Given the description of an element on the screen output the (x, y) to click on. 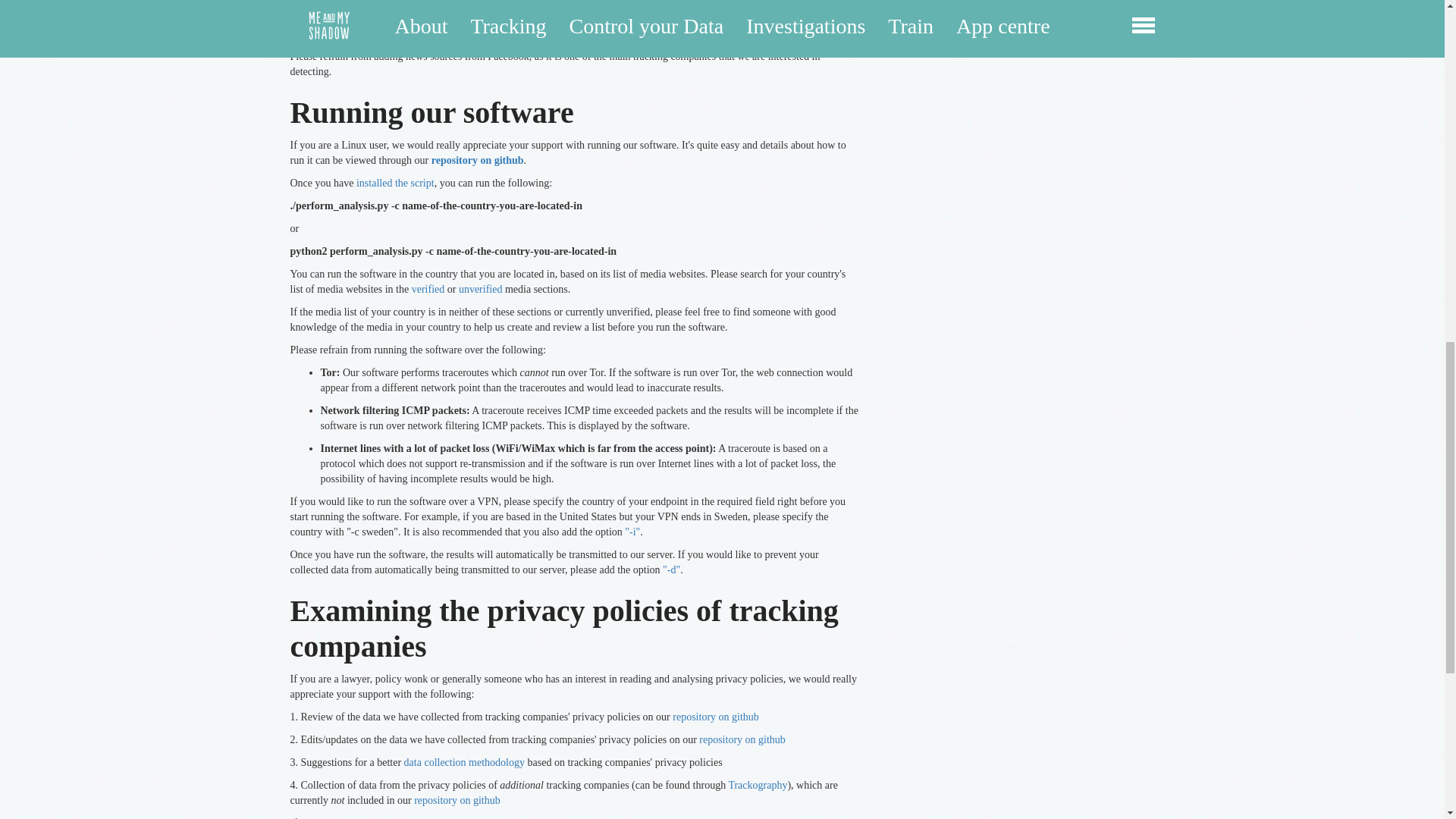
data collection methodology (464, 762)
repository on github (477, 160)
repository on github (742, 739)
repository on github (456, 799)
repository on github (715, 716)
"-d" (671, 569)
"-i" (632, 531)
installed the script (394, 183)
unverified (478, 288)
verified (428, 288)
